Given the description of an element on the screen output the (x, y) to click on. 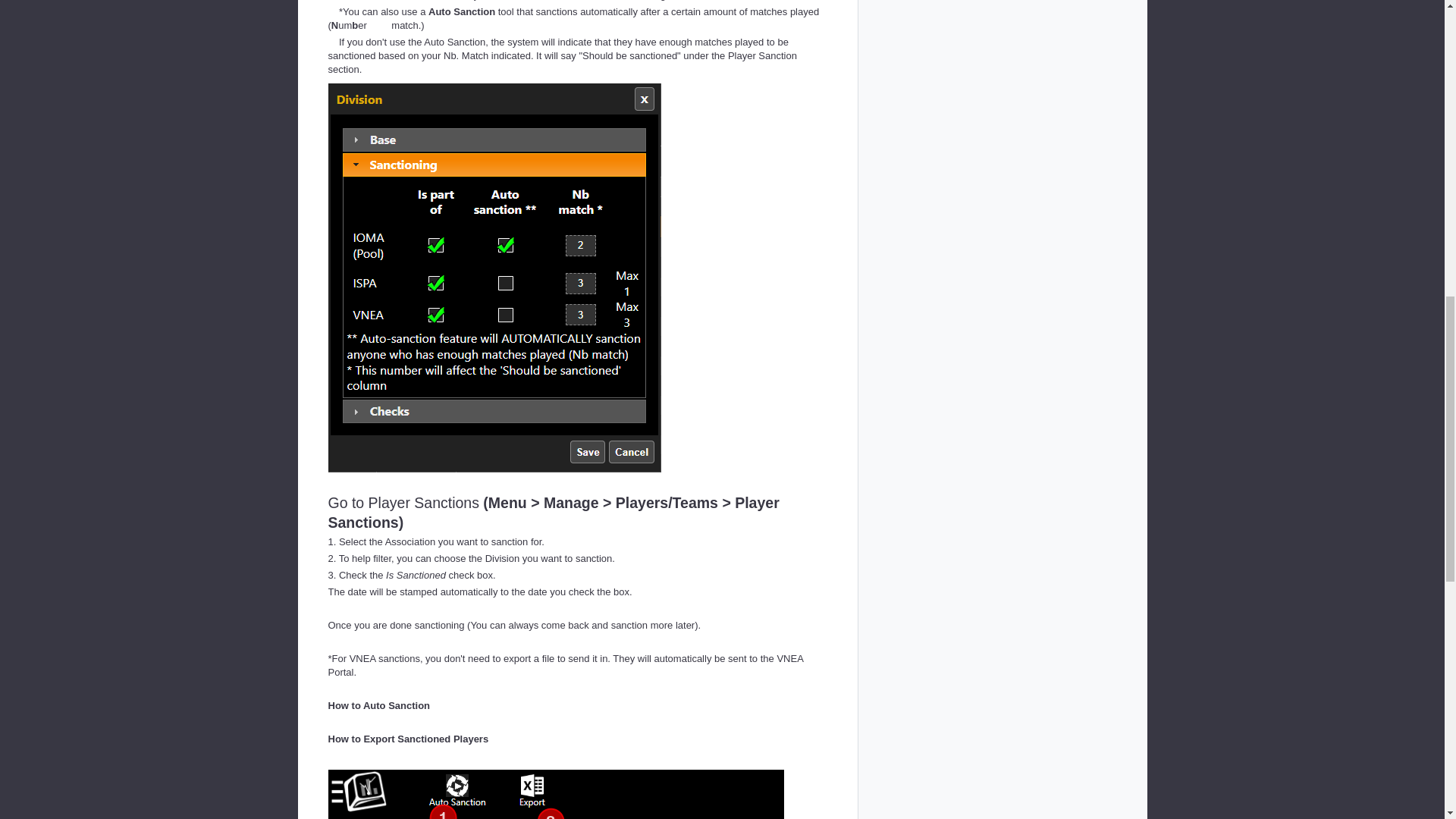
How to Export Sanctioned Players (407, 738)
How to Auto Sanction (378, 705)
